Given the description of an element on the screen output the (x, y) to click on. 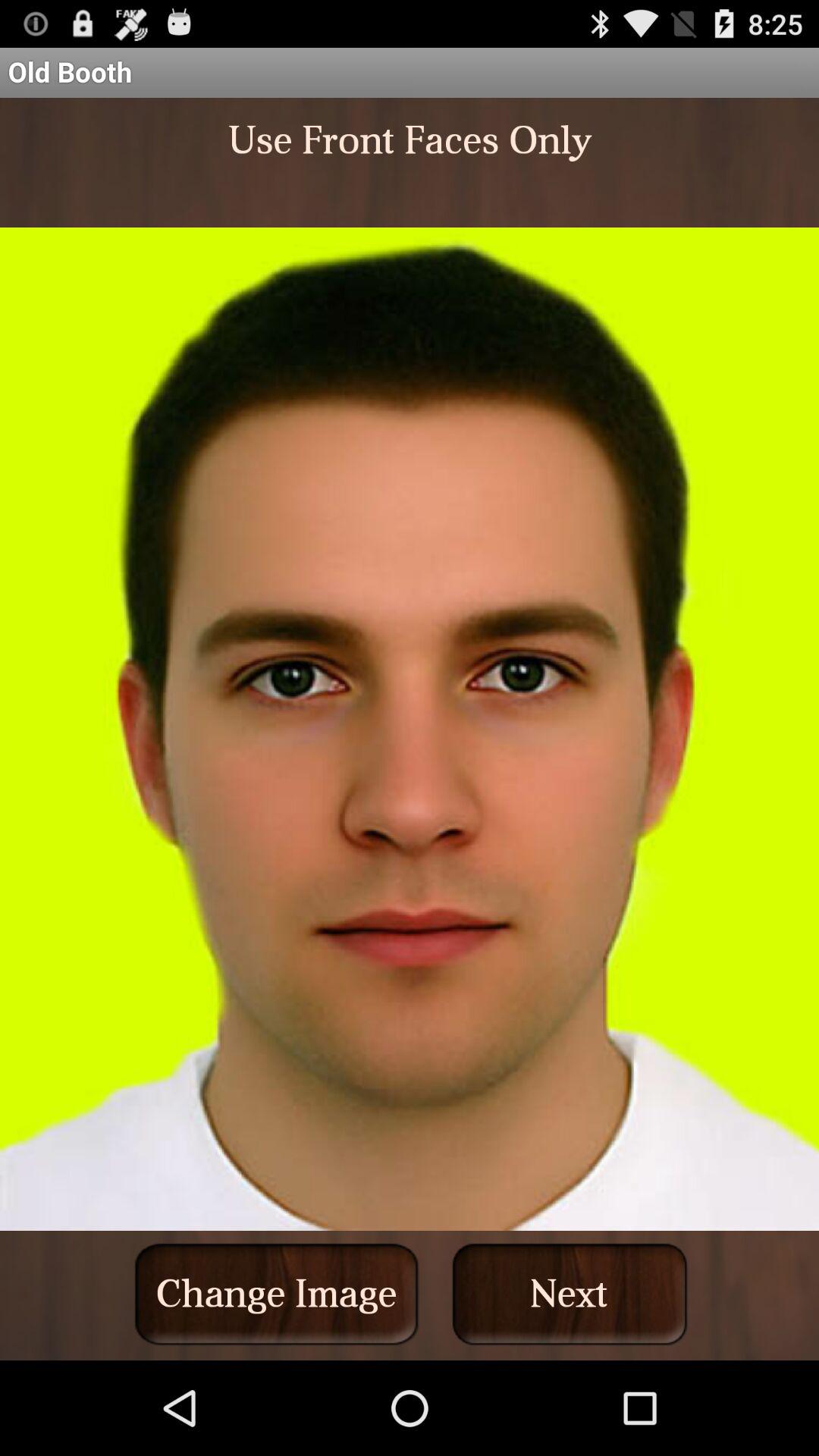
press the icon at the bottom (276, 1293)
